Given the description of an element on the screen output the (x, y) to click on. 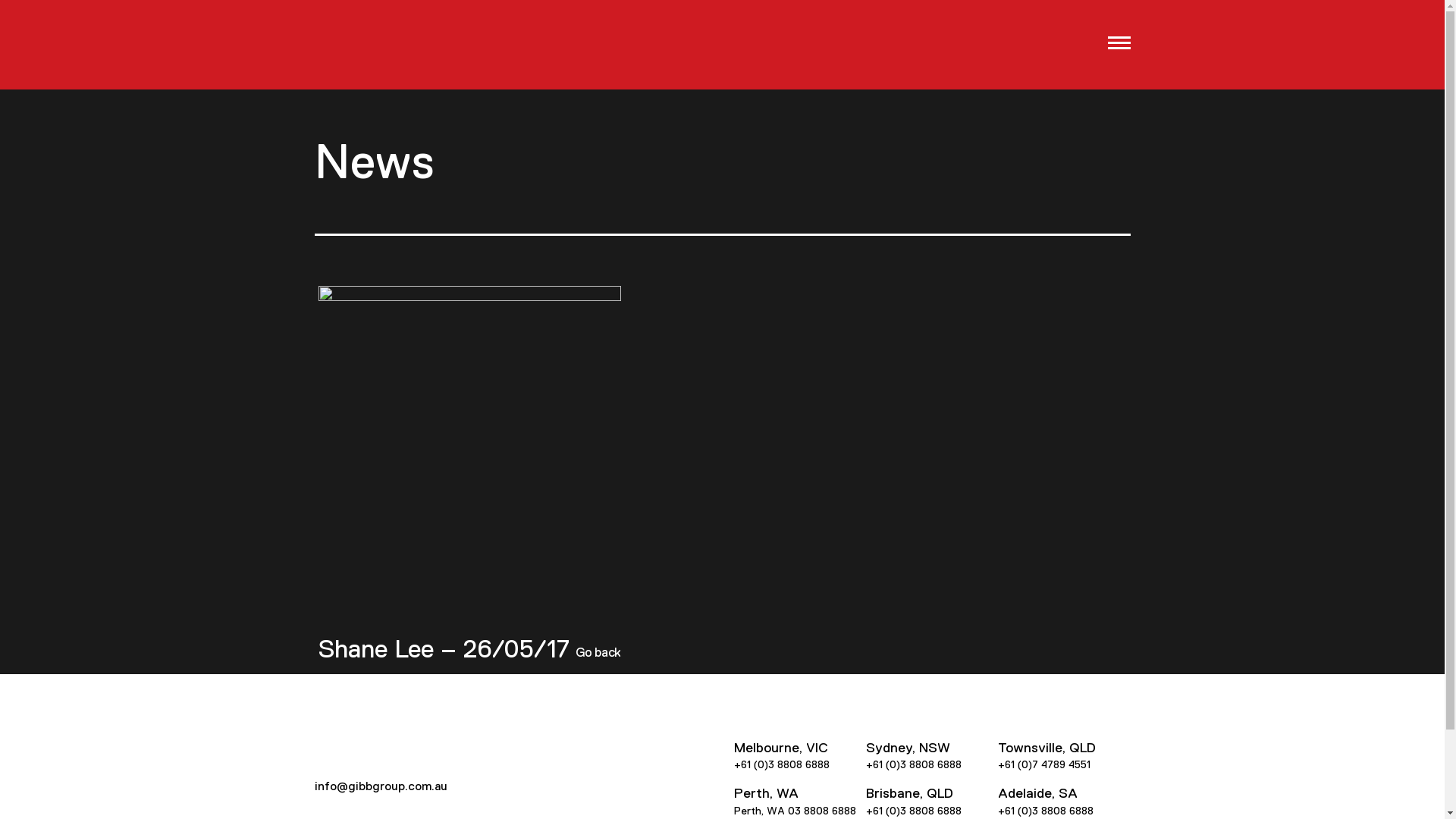
+61 (0)3 8808 6888 Element type: text (913, 764)
+61 (0)3 8808 6888 Element type: text (1045, 810)
+61 (0)3 8808 6888 Element type: text (913, 810)
+61 (0)7 4789 4551 Element type: text (1043, 764)
Go back Element type: text (597, 652)
03 8808 6888 Element type: text (821, 810)
+61 (0)3 8808 6888 Element type: text (781, 764)
info@gibbgroup.com.au Element type: text (379, 785)
